Given the description of an element on the screen output the (x, y) to click on. 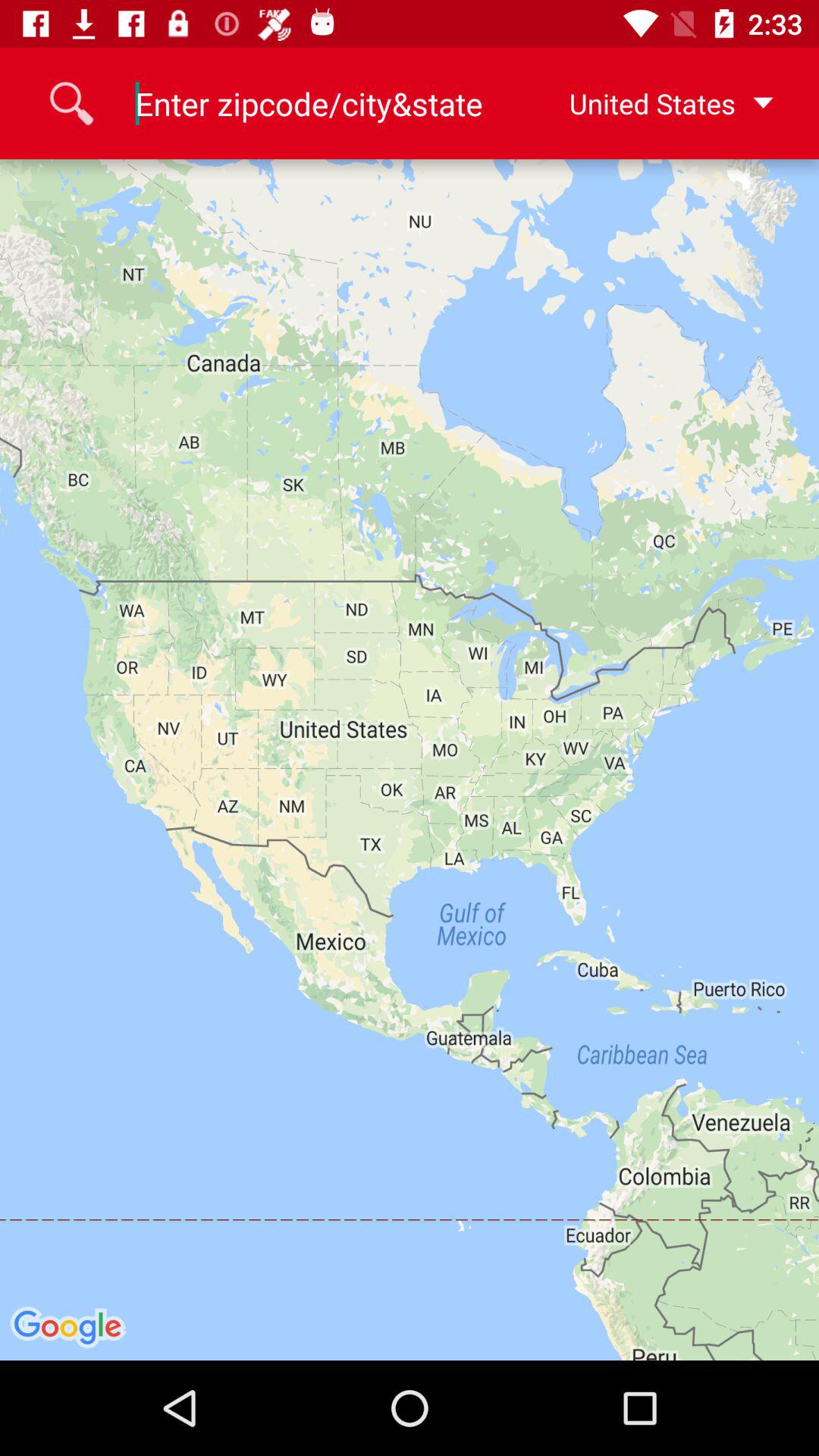
turn on the united states icon (647, 103)
